Given the description of an element on the screen output the (x, y) to click on. 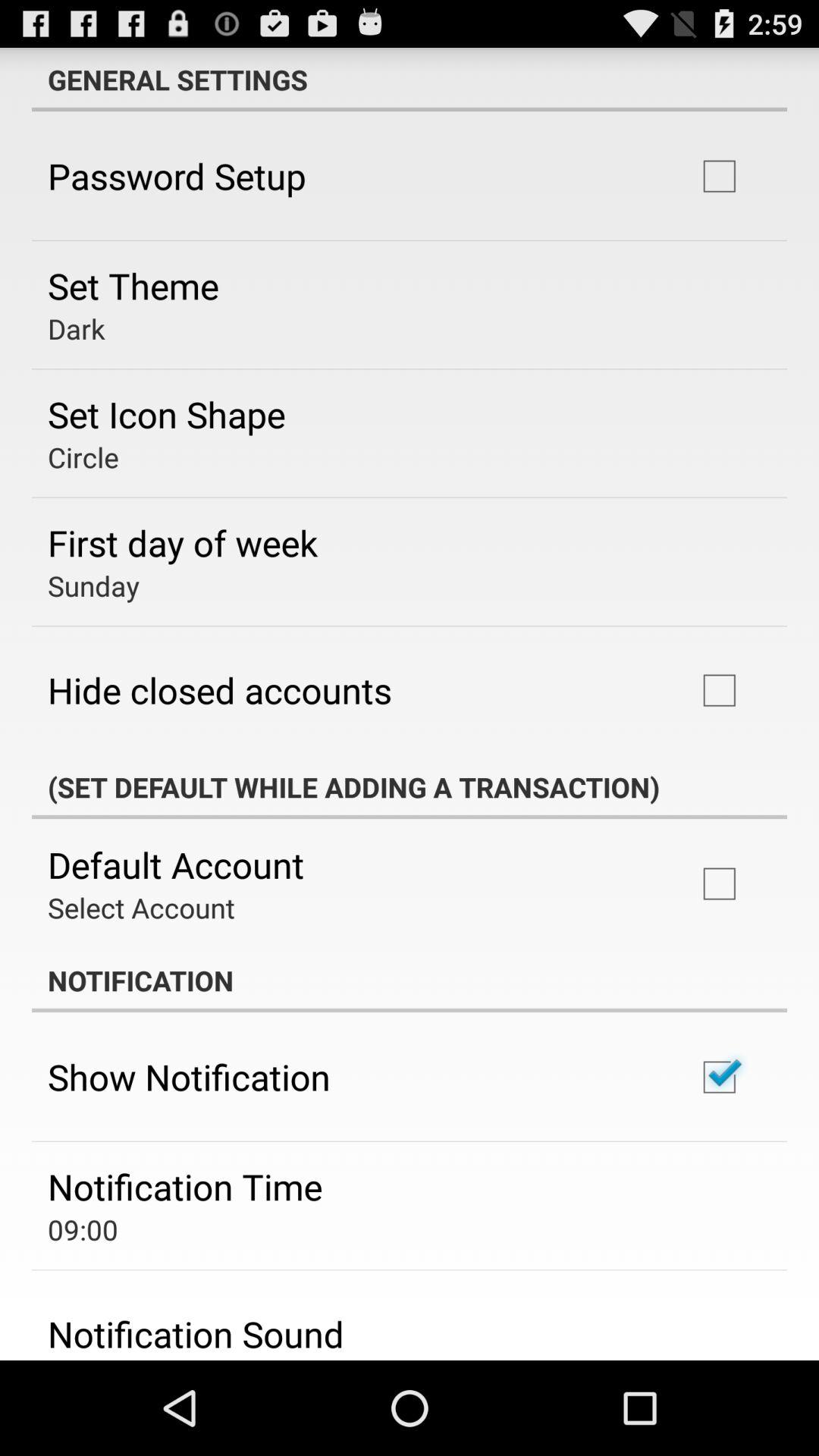
launch first day of (182, 542)
